Given the description of an element on the screen output the (x, y) to click on. 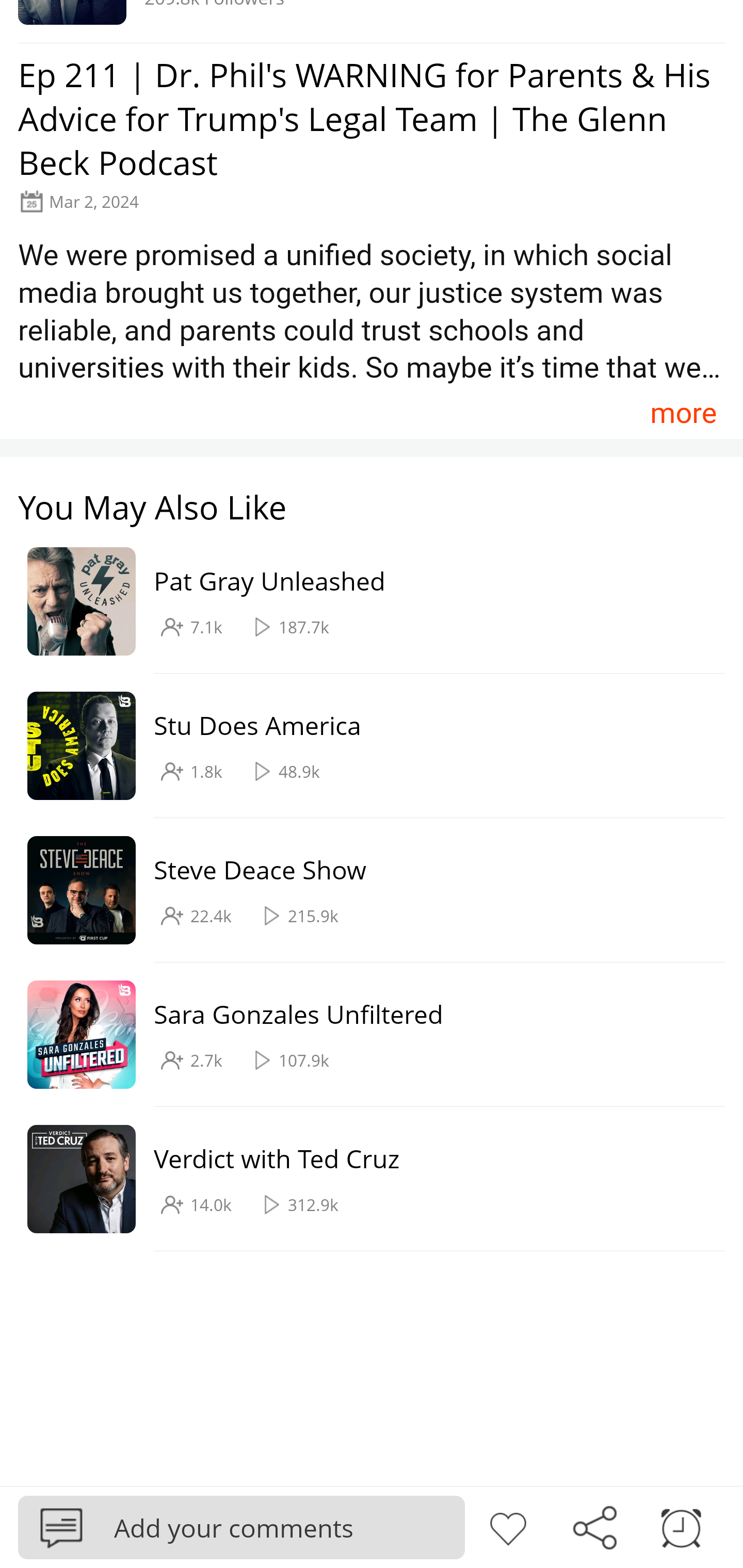
more (682, 412)
Pat Gray Unleashed 7.1k 187.7k (362, 601)
Stu Does America 1.8k 48.9k (362, 746)
Steve Deace Show 22.4k 215.9k (362, 890)
Sara Gonzales Unfiltered 2.7k 107.9k (362, 1034)
Verdict with Ted Cruz 14.0k 312.9k (362, 1179)
Like (508, 1526)
Share (594, 1526)
Sleep timer (681, 1526)
Podbean Add your comments (241, 1526)
